Given the description of an element on the screen output the (x, y) to click on. 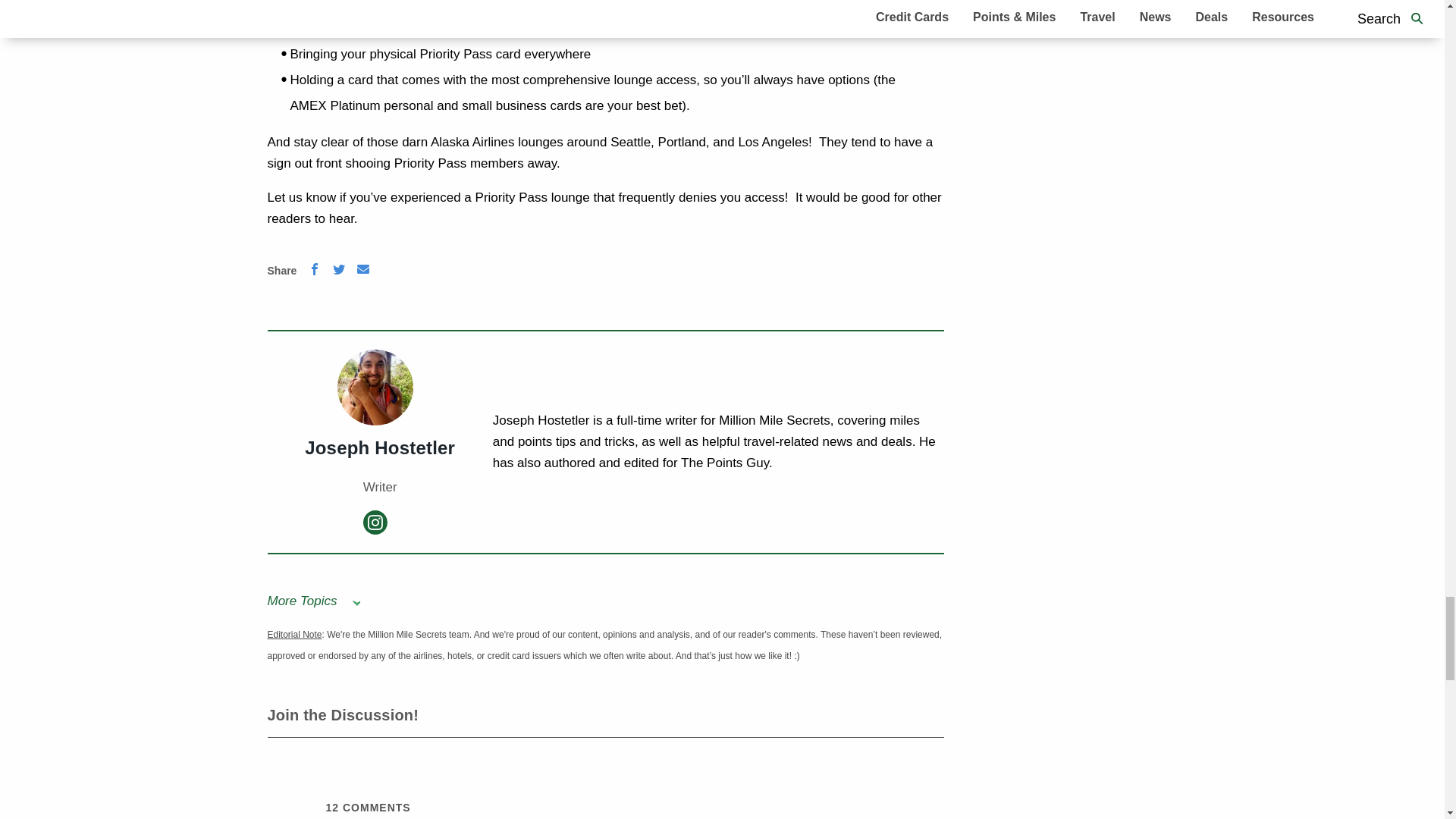
12 (332, 807)
